Given the description of an element on the screen output the (x, y) to click on. 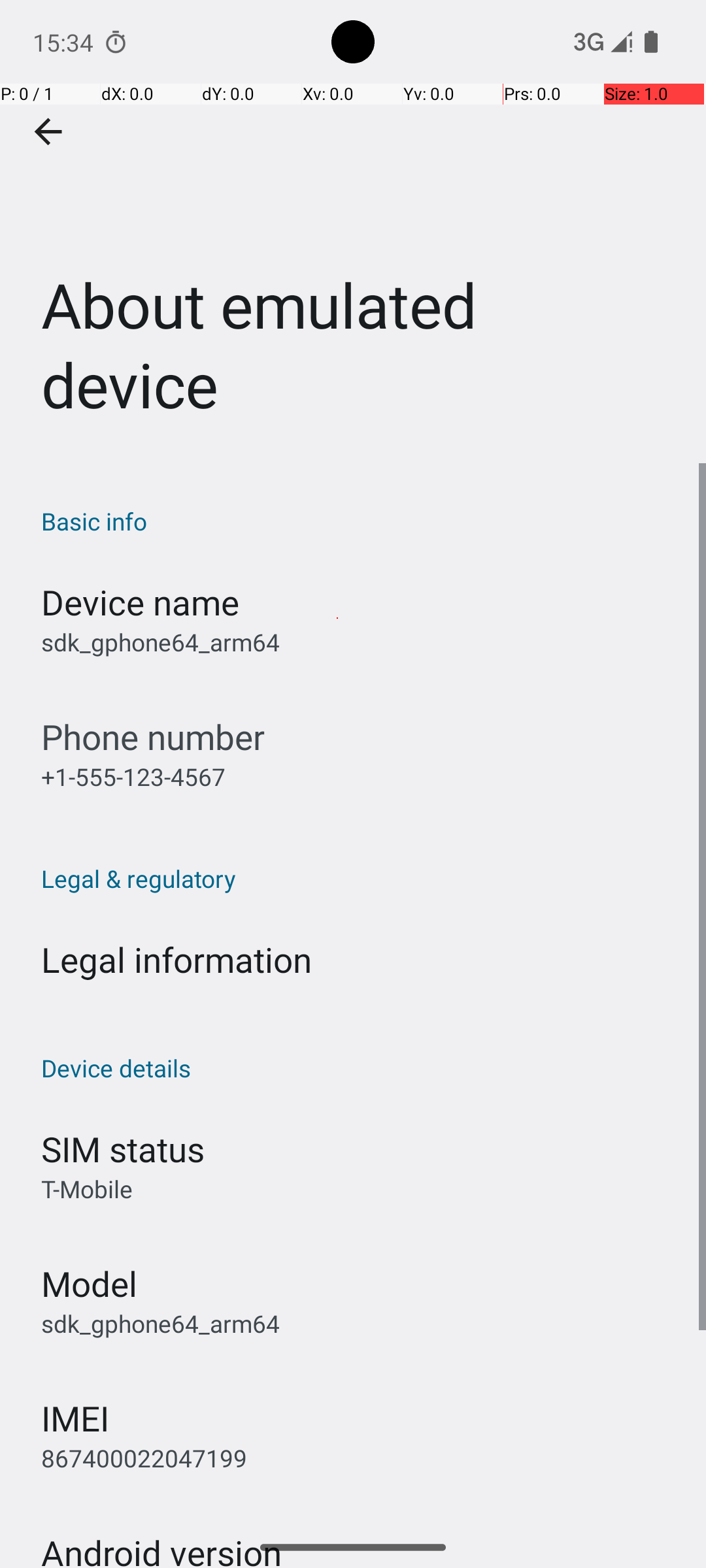
About emulated device Element type: android.widget.FrameLayout (353, 231)
Basic info Element type: android.widget.TextView (359, 520)
Phone number Element type: android.widget.TextView (152, 736)
+1-555-123-4567 Element type: android.widget.TextView (133, 776)
Legal & regulatory Element type: android.widget.TextView (359, 878)
Legal information Element type: android.widget.TextView (176, 959)
Device details Element type: android.widget.TextView (359, 1067)
SIM status Element type: android.widget.TextView (122, 1148)
Model Element type: android.widget.TextView (89, 1283)
IMEI Element type: android.widget.TextView (75, 1417)
867400022047199 Element type: android.widget.TextView (144, 1457)
